Given the description of an element on the screen output the (x, y) to click on. 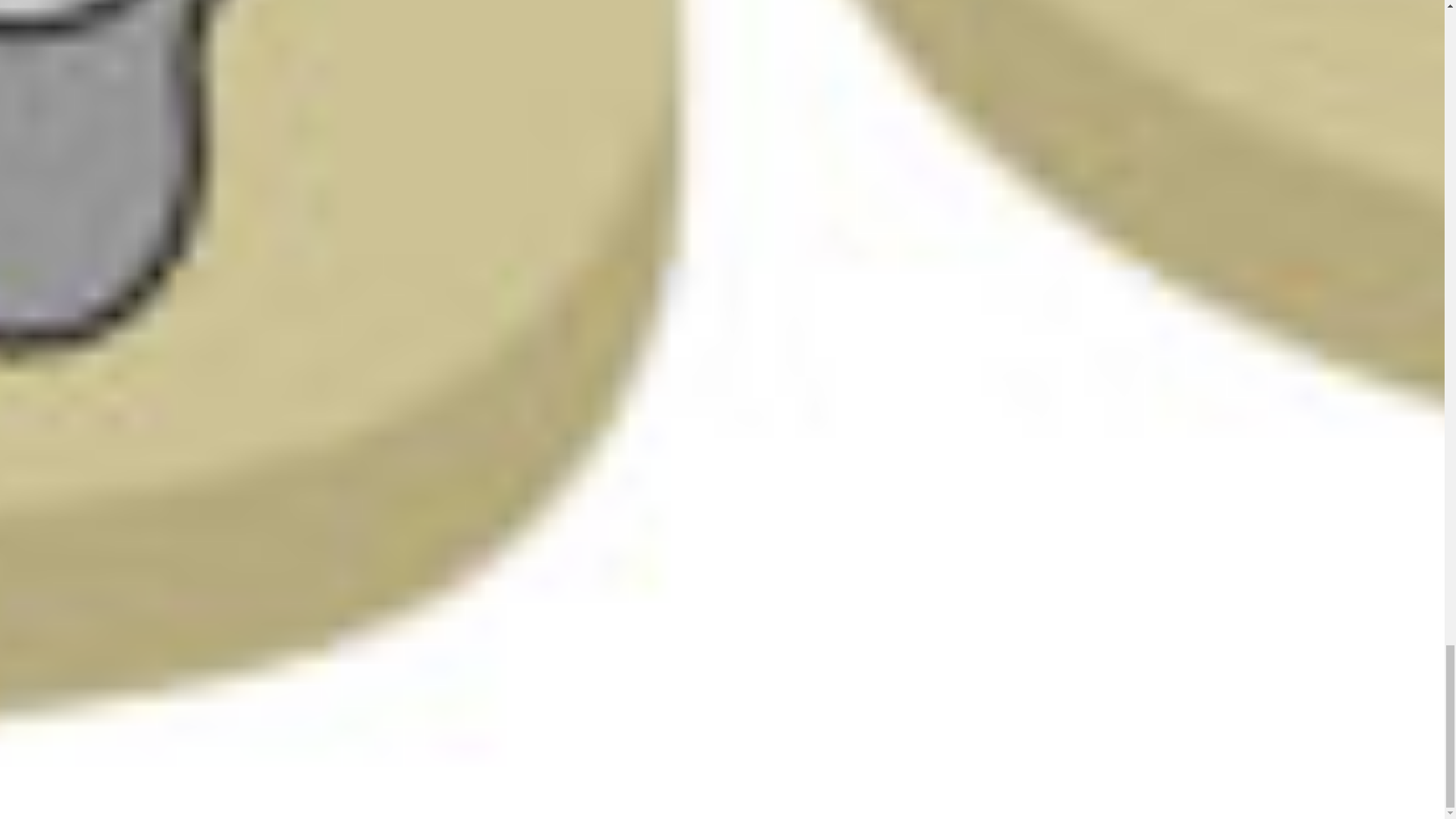
here (330, 363)
www.lbl.gov (1209, 537)
here (303, 401)
